Given the description of an element on the screen output the (x, y) to click on. 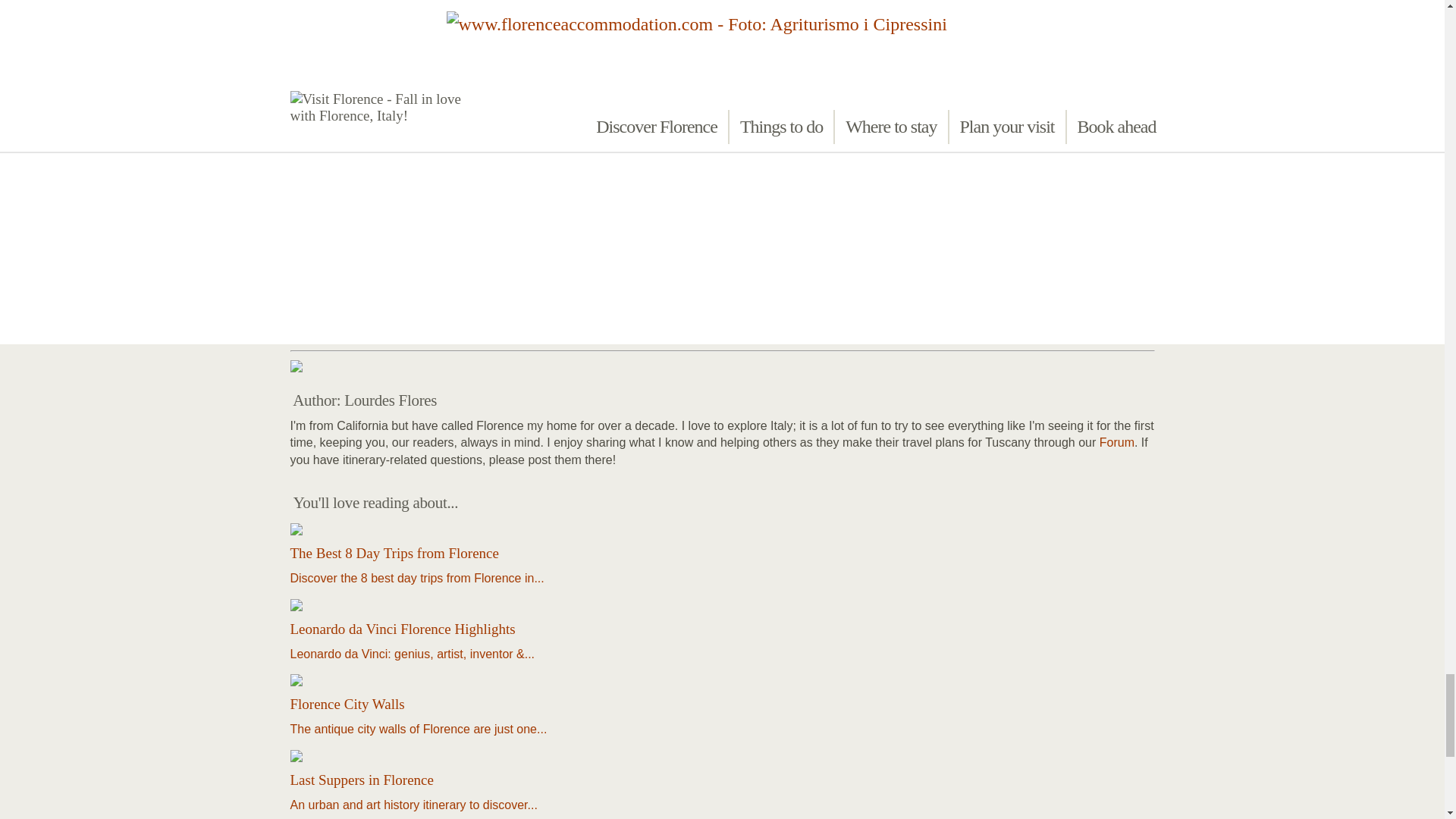
Discover Tuscany Forum (1116, 441)
